Given the description of an element on the screen output the (x, y) to click on. 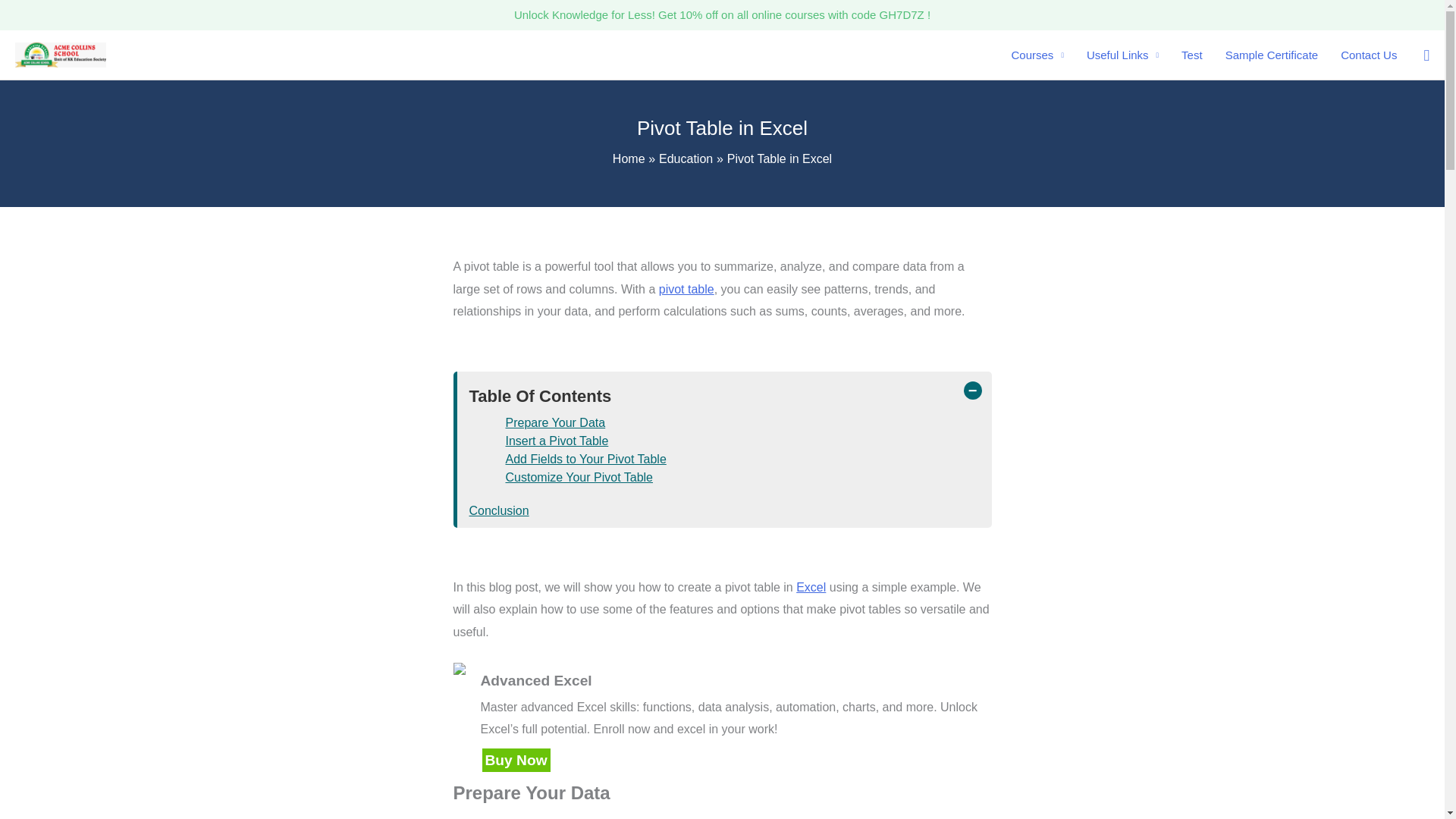
collapse (972, 390)
Test (1192, 55)
pivot table (686, 288)
Home (628, 158)
Education (686, 158)
Prepare Your Data (555, 422)
Useful Links (1122, 55)
Courses (1037, 55)
Sample Certificate (1272, 55)
Advanced Excel (721, 717)
Contact Us (1368, 55)
